Given the description of an element on the screen output the (x, y) to click on. 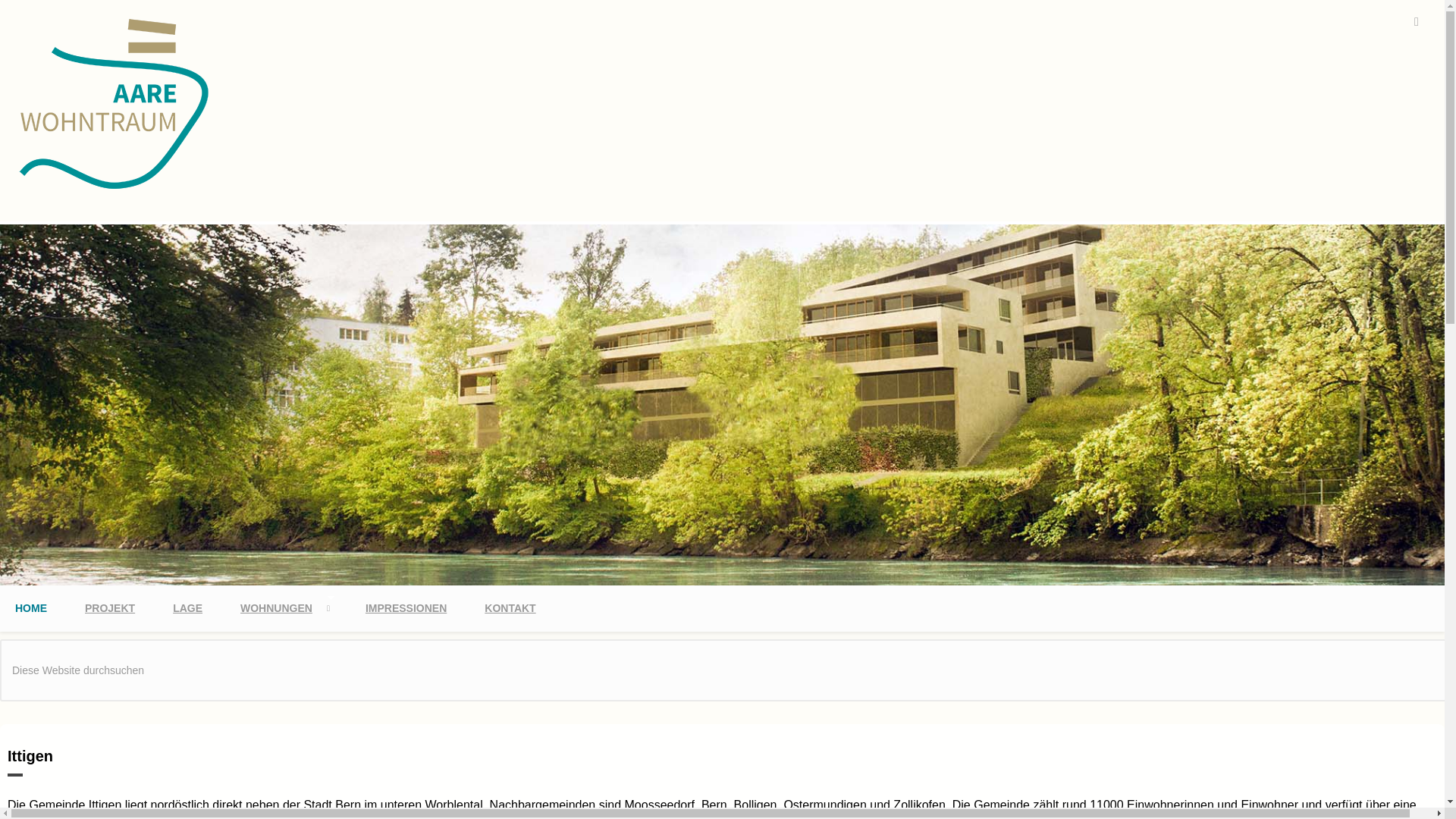
KONTAKT Element type: text (509, 608)
IMPRESSIONEN Element type: text (405, 608)
Startseite Element type: hover (114, 188)
PROJEKT Element type: text (109, 608)
HOME Element type: text (31, 608)
Direkt zum Inhalt Element type: text (45, 18)
LAGE Element type: text (187, 608)
